Given the description of an element on the screen output the (x, y) to click on. 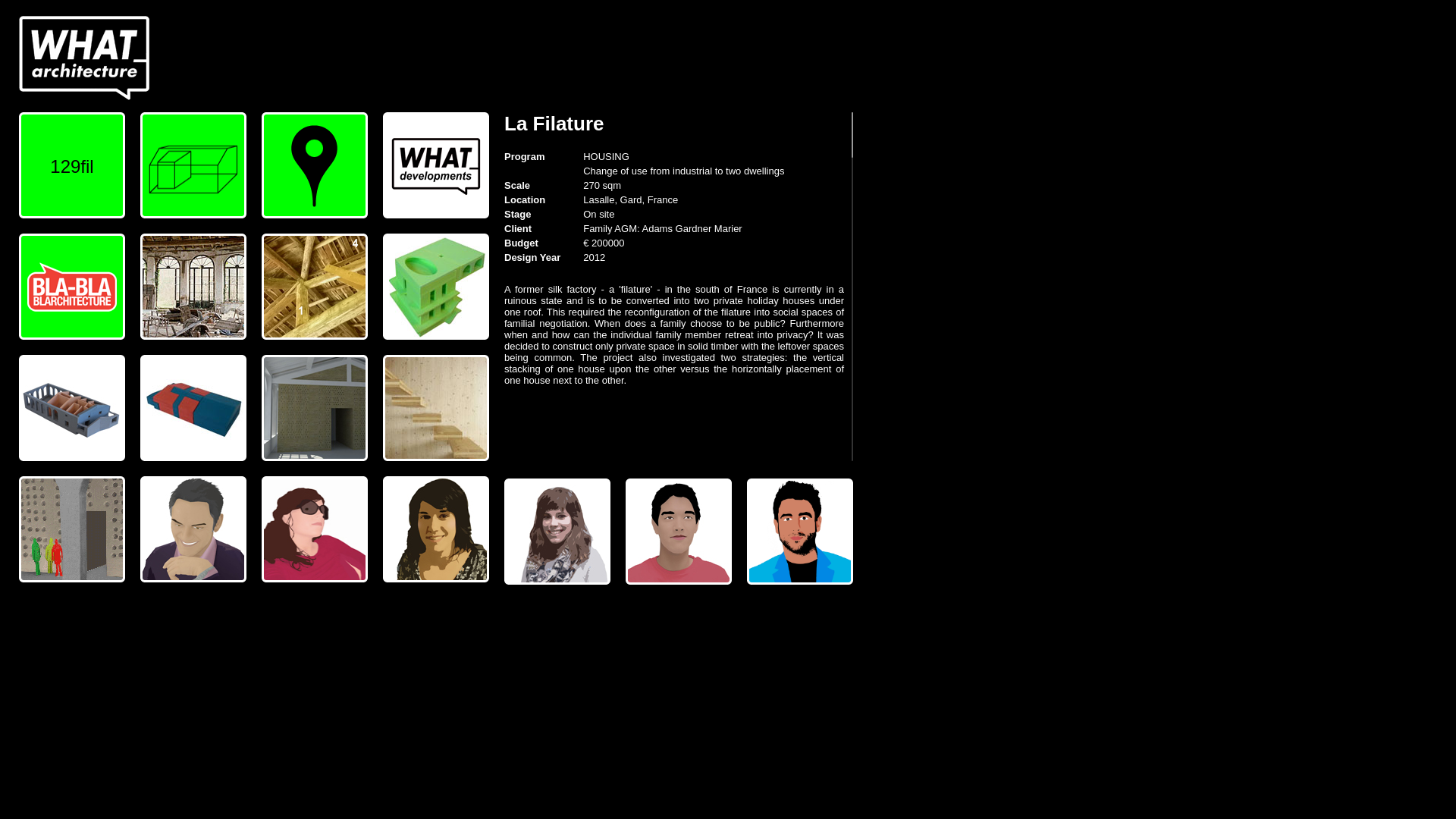
 perforated interior facade (315, 407)
 existing roof: beautiful and problematic (315, 286)
 2 Houses stacked strategy (435, 286)
WHAT architecture - London (84, 57)
 one new material: solid timber (435, 407)
 factory as a ruin (192, 286)
WHAT architecture (84, 57)
 Perforated interface between public-private (71, 528)
2 houses side-by-side strategy (71, 407)
 2 houses side-by-side: public vs private space (192, 407)
